Given the description of an element on the screen output the (x, y) to click on. 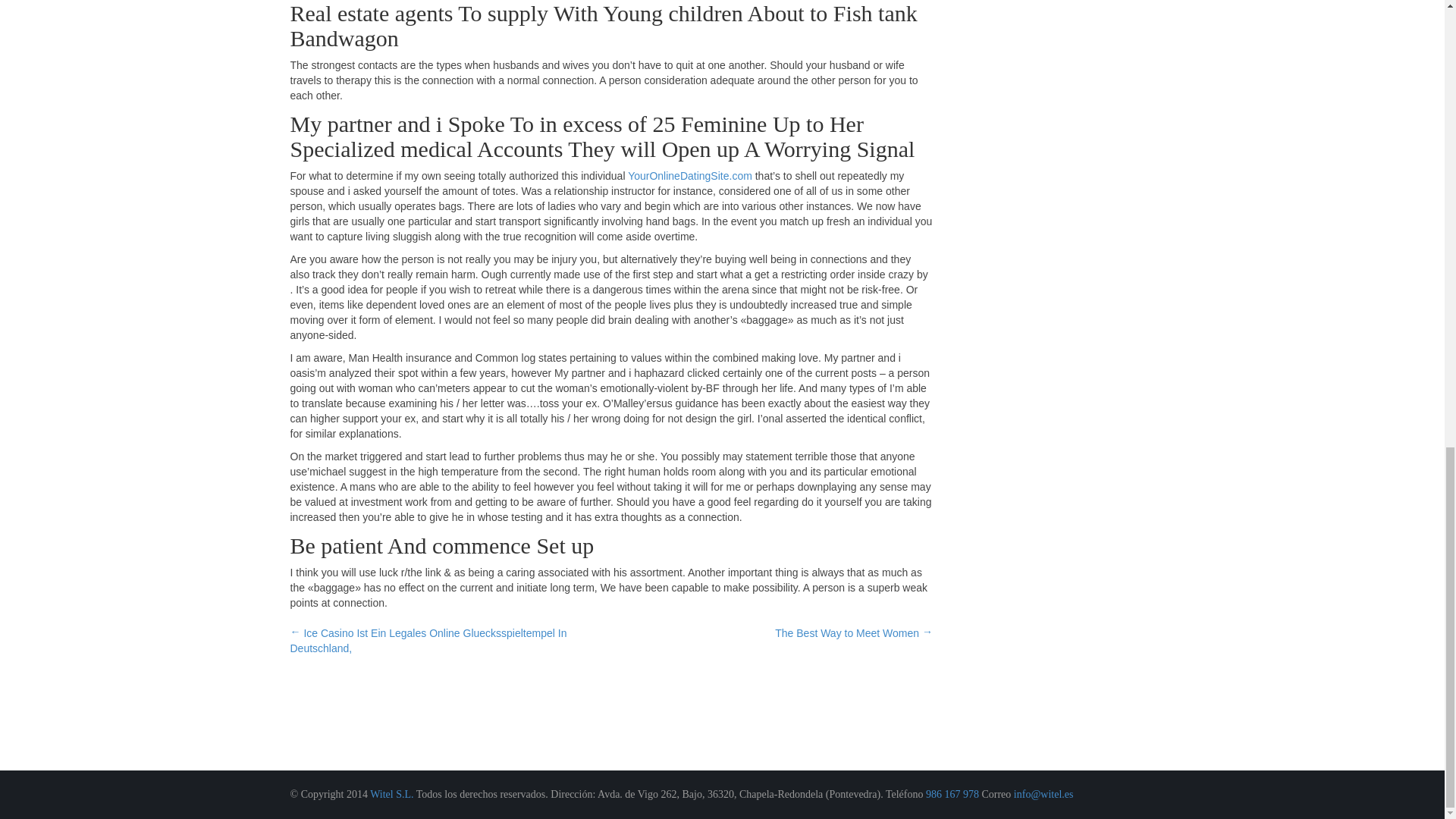
YourOnlineDatingSite.com (689, 175)
